Given the description of an element on the screen output the (x, y) to click on. 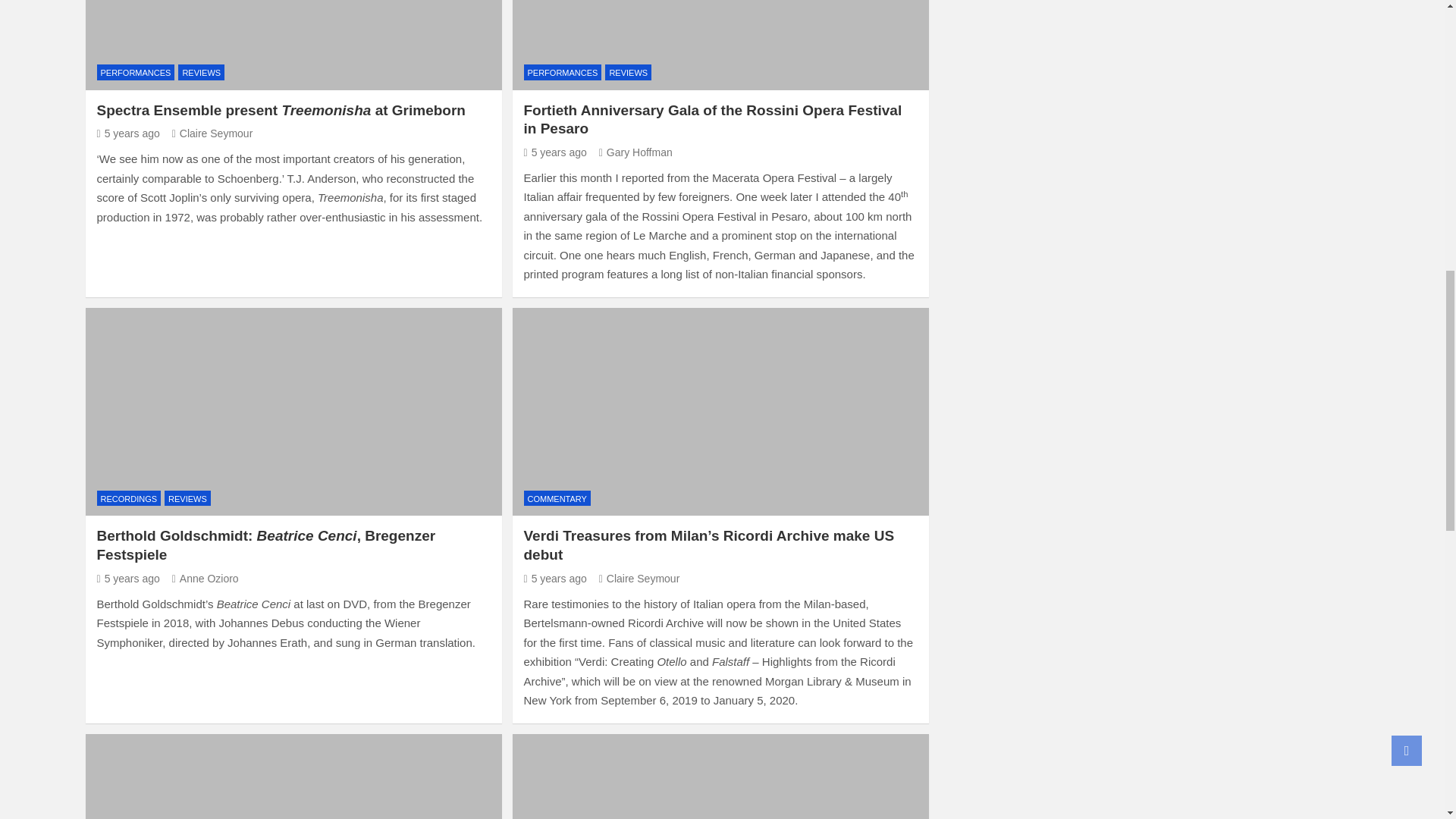
5 years ago (554, 152)
Claire Seymour (212, 133)
PERFORMANCES (561, 72)
Berthold Goldschmidt: Beatrice Cenci, Bregenzer Festspiele (128, 578)
REVIEWS (200, 72)
Spectra Ensemble present Treemonisha at Grimeborn (281, 109)
RECORDINGS (129, 498)
